Given the description of an element on the screen output the (x, y) to click on. 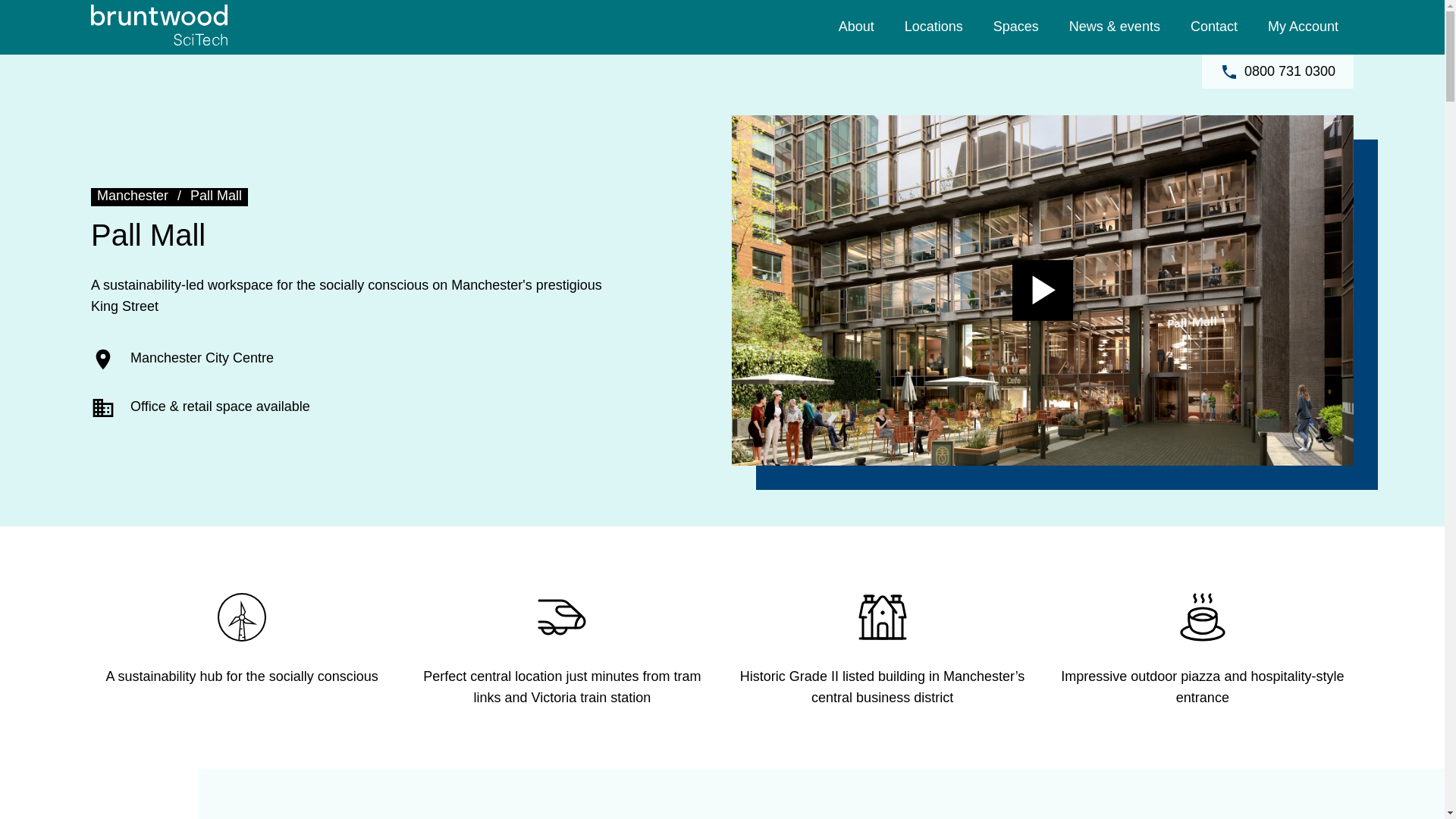
Bruntwood Group (1157, 10)
